Given the description of an element on the screen output the (x, y) to click on. 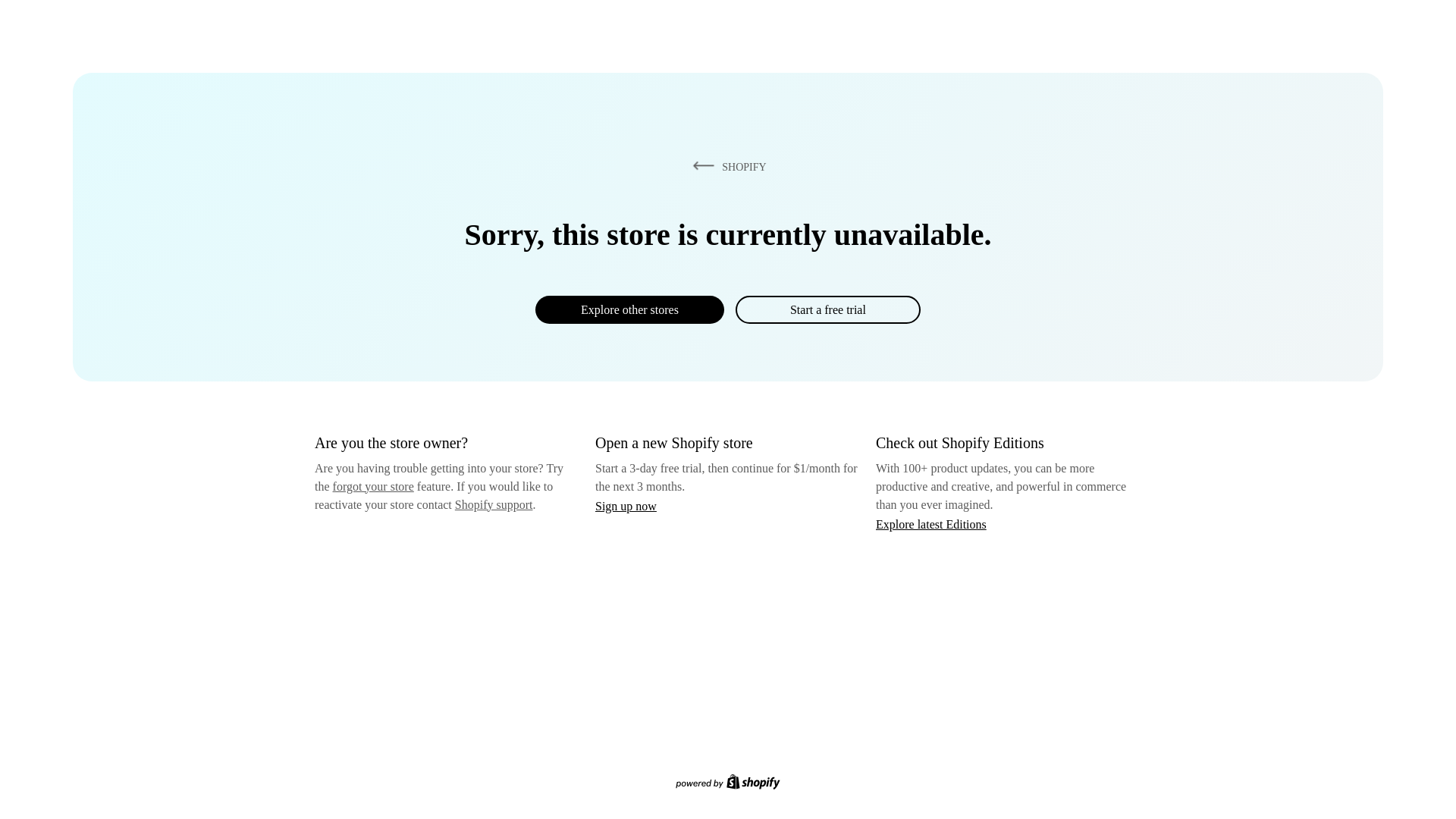
SHOPIFY (726, 166)
Explore latest Editions (931, 523)
Shopify support (493, 504)
Start a free trial (827, 309)
Sign up now (625, 505)
forgot your store (373, 486)
Explore other stores (629, 309)
